Given the description of an element on the screen output the (x, y) to click on. 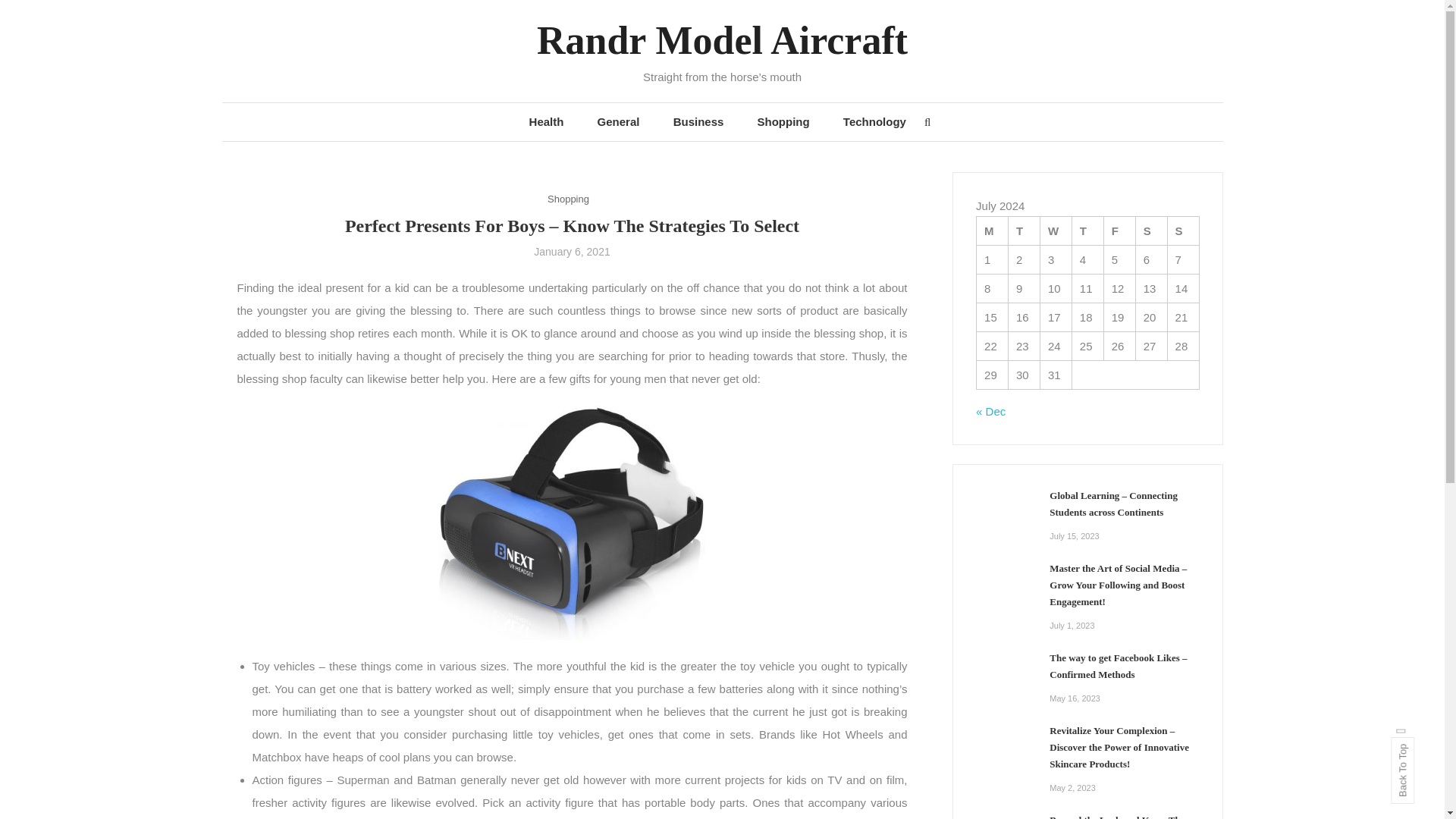
Sunday (1182, 230)
Saturday (1151, 230)
Wednesday (1055, 230)
Thursday (1087, 230)
May 2, 2023 (1072, 787)
Technology (874, 121)
Tuesday (1025, 230)
July 1, 2023 (1071, 624)
Monday (992, 230)
Business (698, 121)
May 16, 2023 (1074, 697)
Friday (1119, 230)
January 6, 2021 (572, 251)
Shopping (783, 121)
Randr Model Aircraft (722, 40)
